Given the description of an element on the screen output the (x, y) to click on. 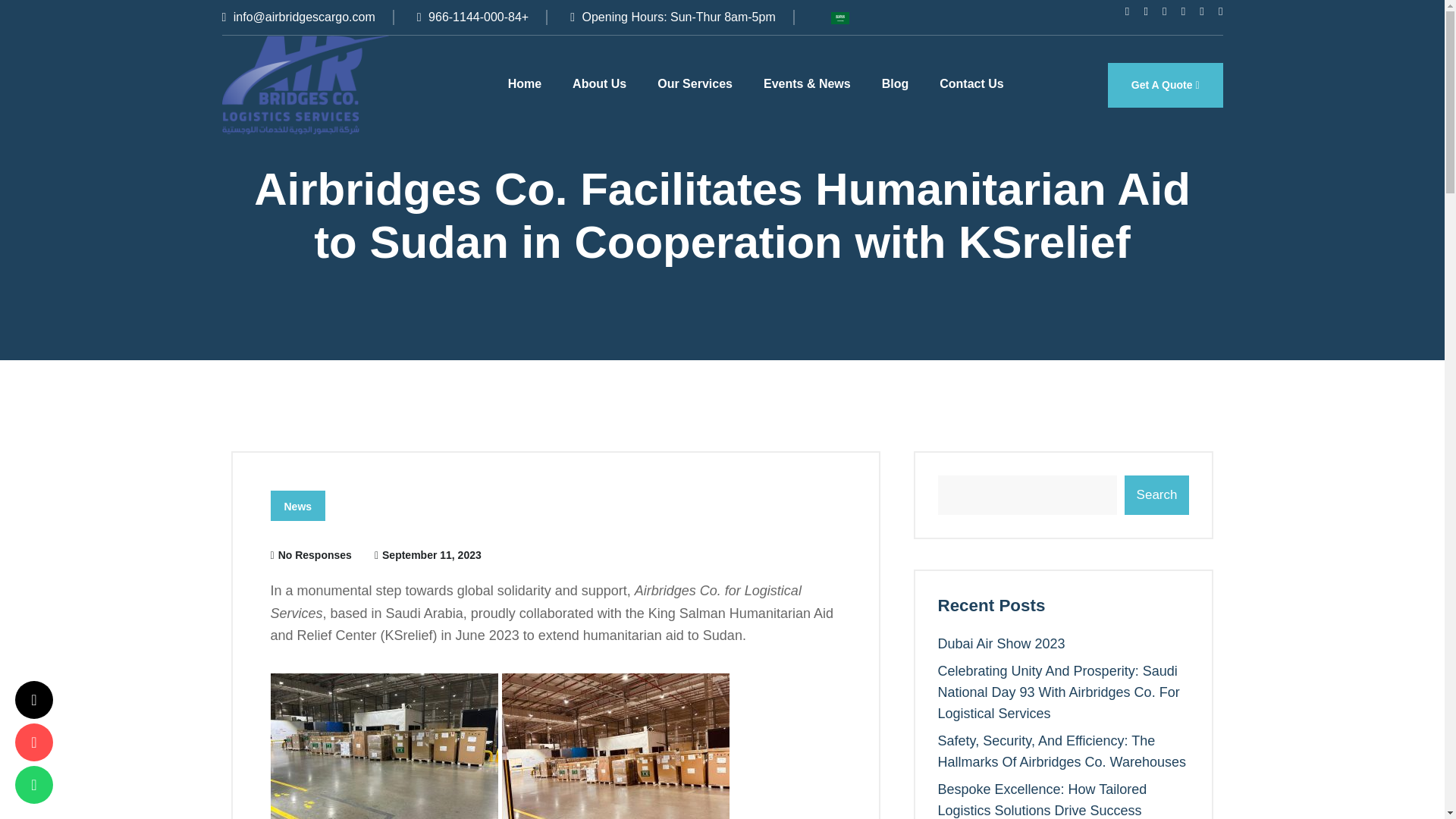
About Us (599, 83)
Our Services (694, 83)
Get A Quote (1165, 84)
Search (1156, 495)
Our services (694, 83)
Blog (895, 83)
News (296, 505)
Dubai Air Show 2023 (1000, 643)
